Given the description of an element on the screen output the (x, y) to click on. 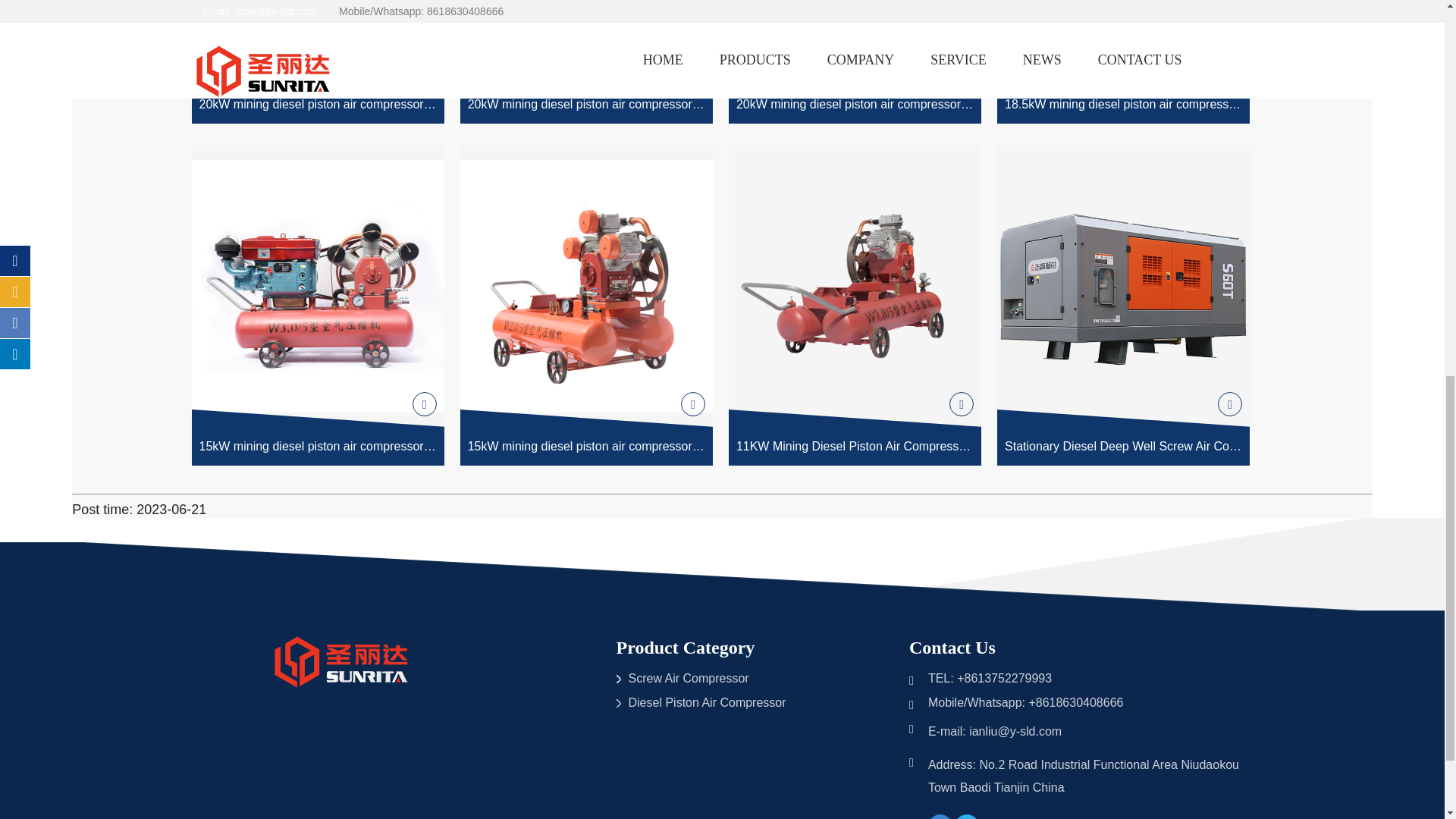
logo (342, 664)
20kW mining diesel piston air compressor SF4.0-5 (317, 61)
20kW mining diesel piston air compressor W3.2-7 (586, 61)
20kW mining diesel piston air compressor 2V4.0-5 (855, 61)
